Given the description of an element on the screen output the (x, y) to click on. 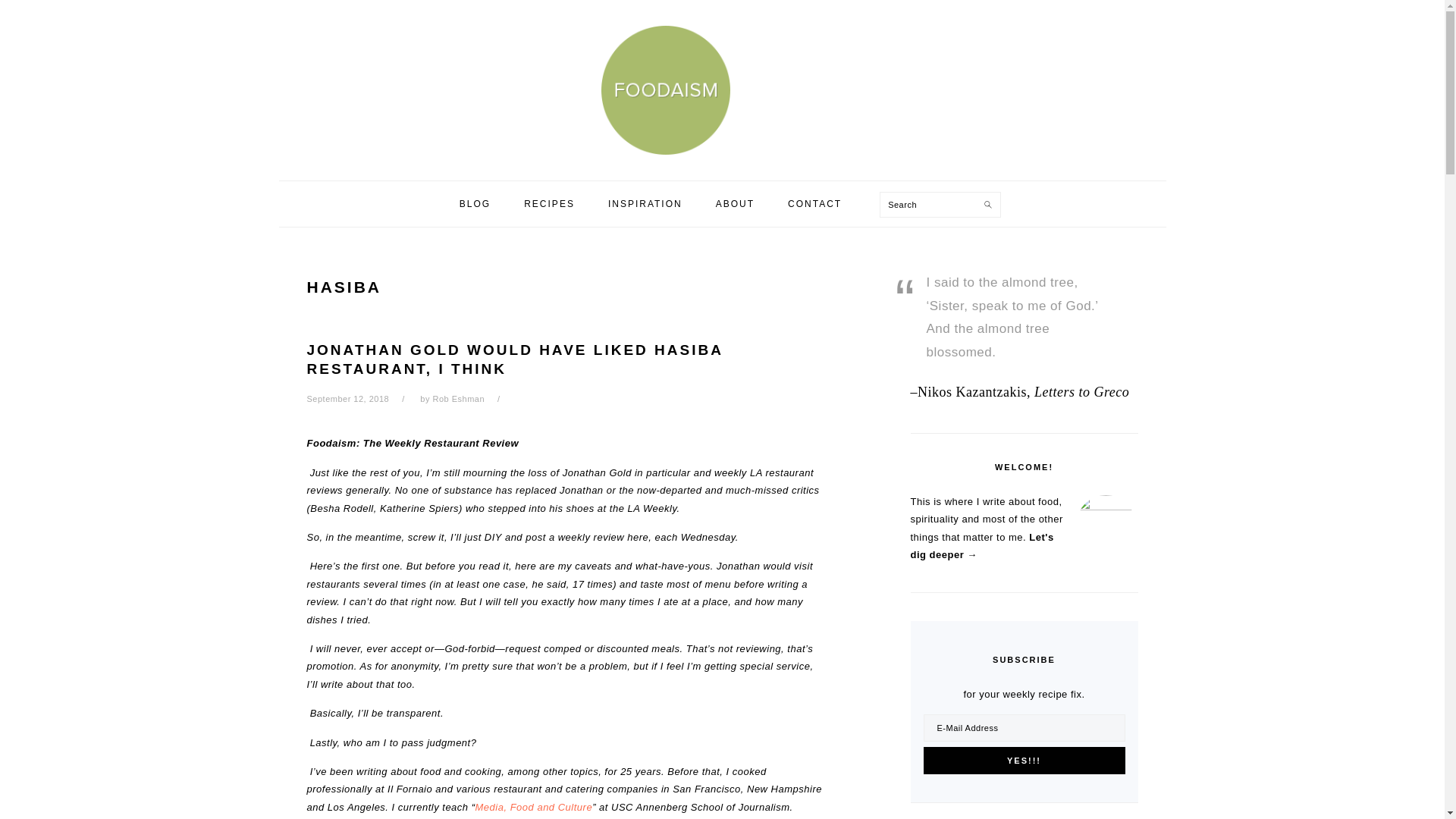
Media, Food and Culture (534, 807)
Yes!!! (1024, 759)
JONATHAN GOLD WOULD HAVE LIKED HASIBA RESTAURANT, I THINK (513, 359)
FOODAISM.COM (721, 89)
INSPIRATION (645, 203)
ABOUT (735, 203)
CONTACT (814, 203)
